Given the description of an element on the screen output the (x, y) to click on. 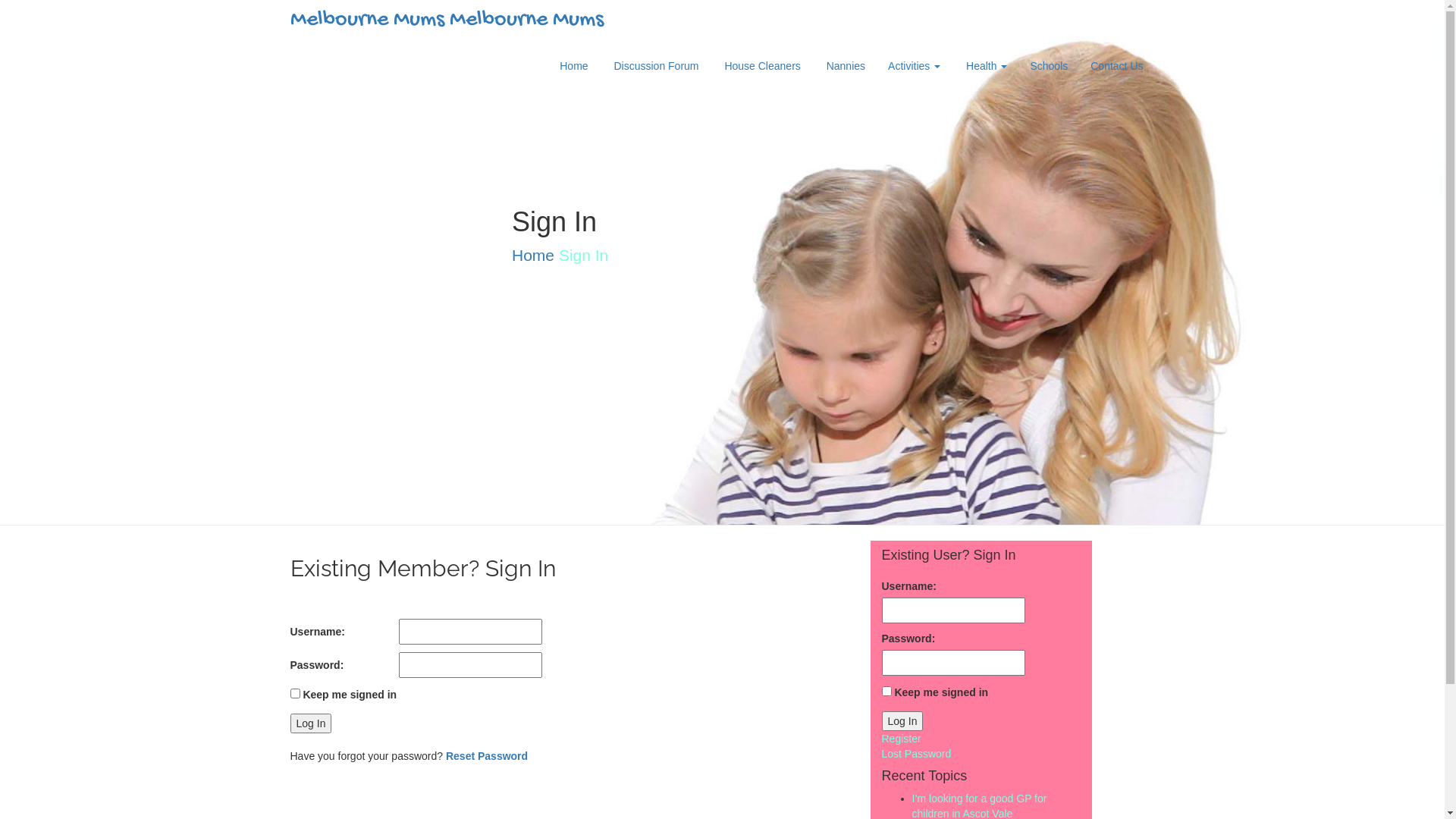
 Discussion Forum Element type: text (654, 65)
Lost Password Element type: text (915, 753)
Log In Element type: text (310, 723)
Contact Us Element type: text (1116, 65)
Reset Password Element type: text (486, 755)
 Nannies Element type: text (844, 65)
Melbourne Mums Element type: text (525, 19)
Melbourne Mums Element type: text (368, 19)
Home Element type: text (573, 65)
Schools Element type: text (1048, 65)
Home Element type: text (532, 254)
 House Cleaners Element type: text (761, 65)
Log In Element type: text (901, 721)
 Health Element type: text (984, 65)
Register Element type: text (900, 738)
Activities Element type: text (913, 65)
